Given the description of an element on the screen output the (x, y) to click on. 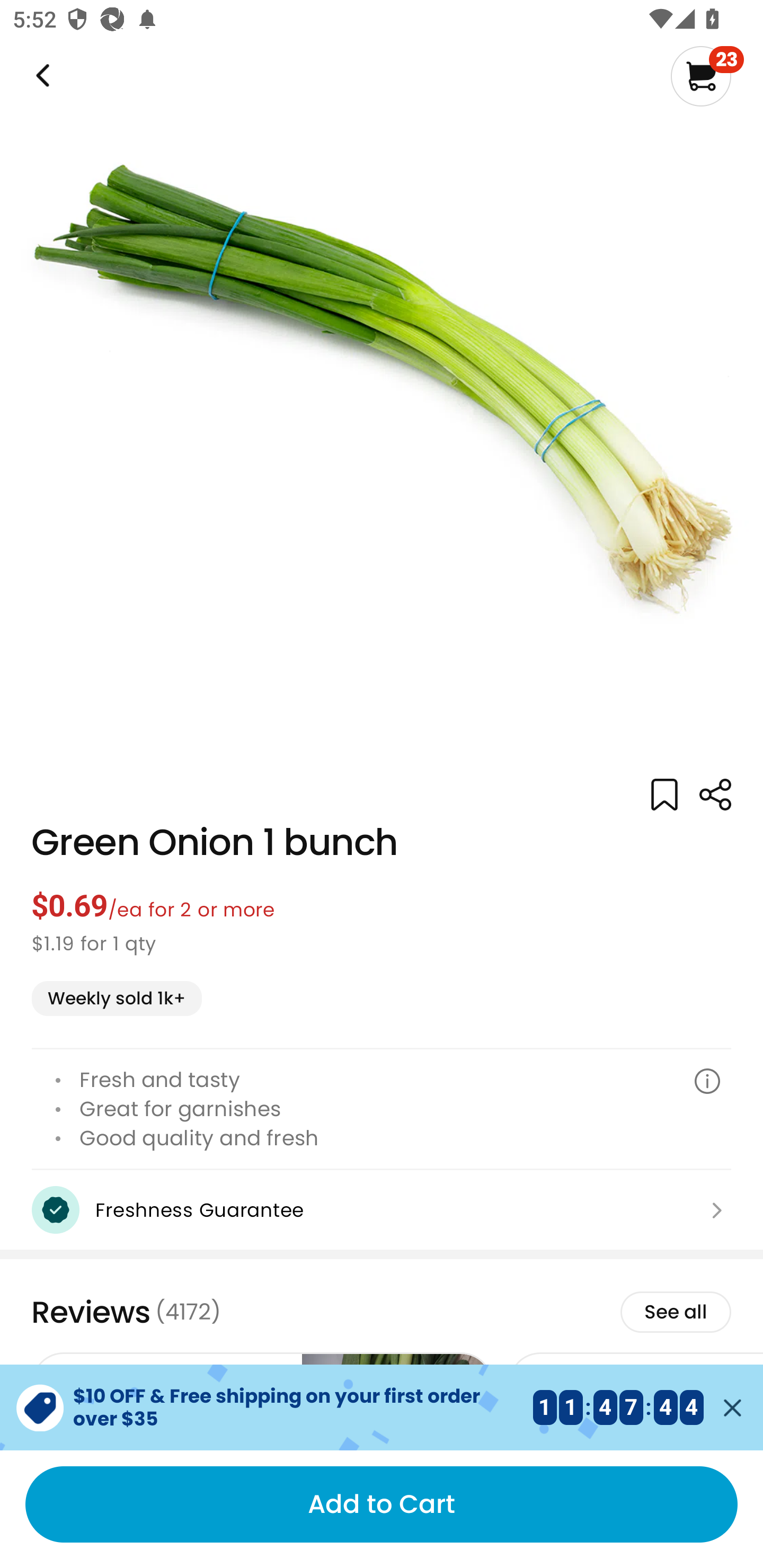
Weee! (41, 75)
23 (706, 75)
Weee! (714, 794)
Freshness Guarantee (381, 1209)
Reviews (4172) See all (381, 1311)
Add to Cart (381, 1504)
Add to Cart (381, 1504)
